Given the description of an element on the screen output the (x, y) to click on. 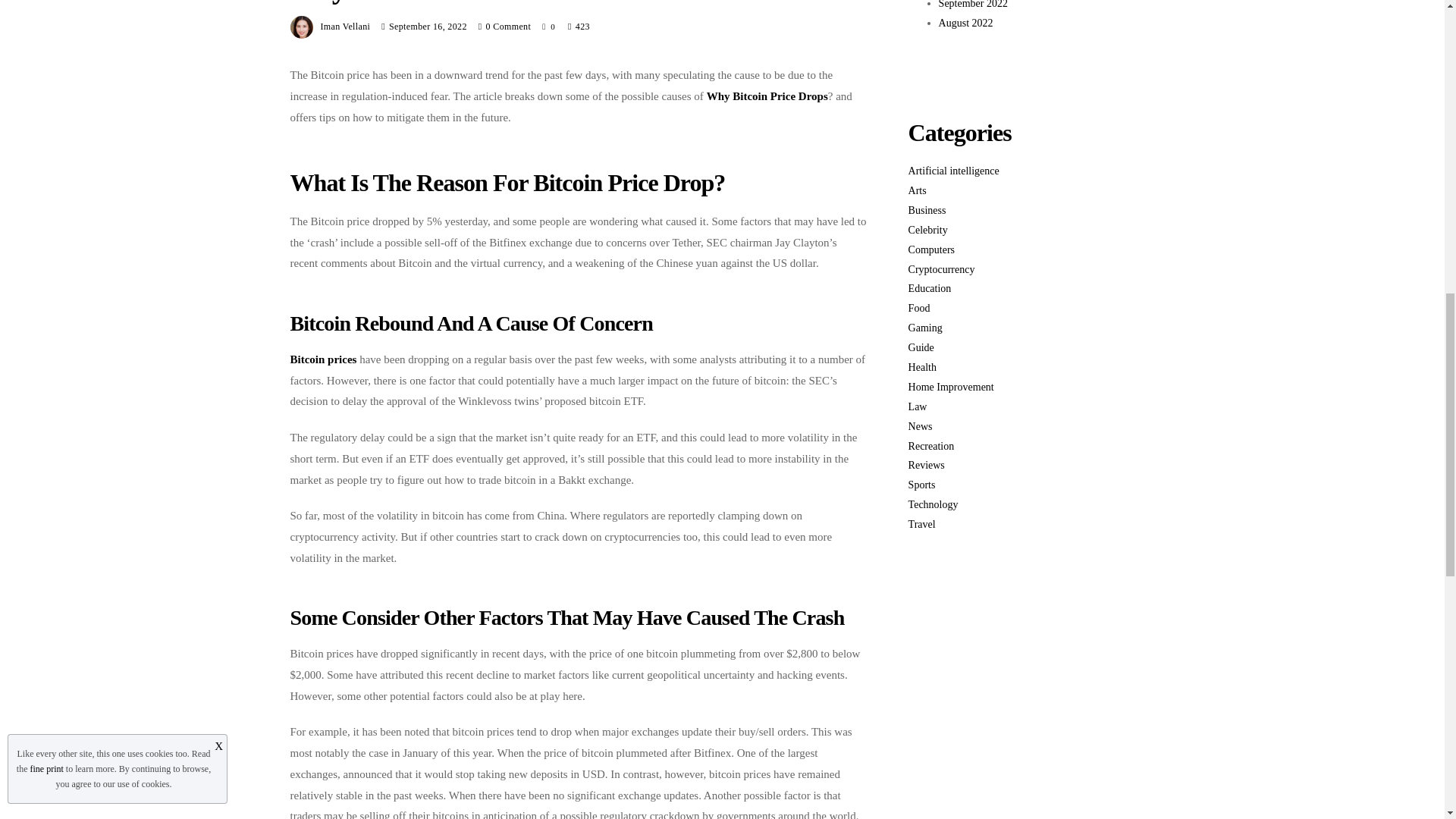
Posts by Iman Vellani (344, 26)
Iman Vellani (344, 26)
Like (548, 26)
Bitcoin prices (322, 358)
Why Bitcoin Price Drops (767, 96)
0 Comment (508, 26)
0 (548, 26)
